Given the description of an element on the screen output the (x, y) to click on. 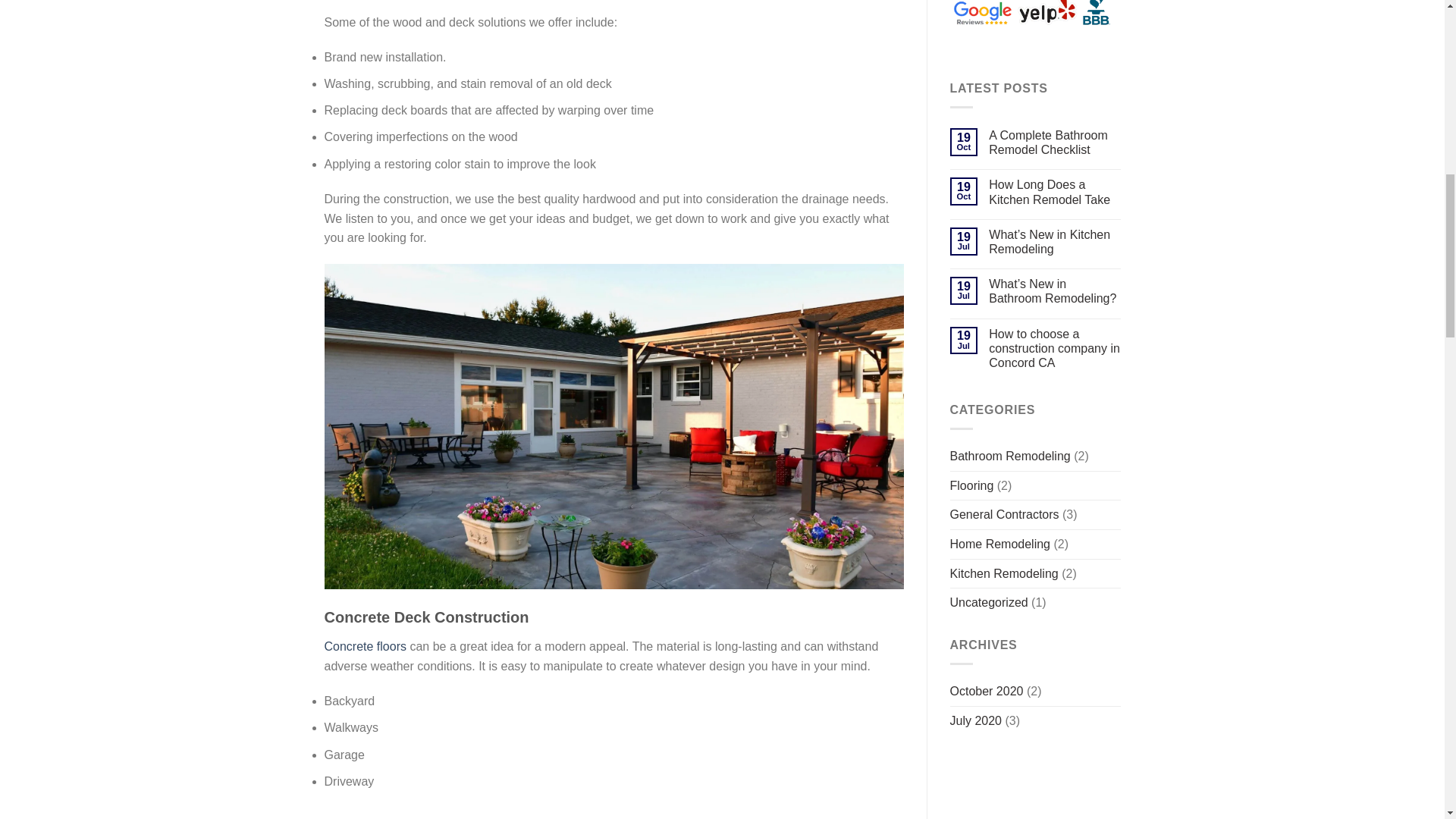
How to choose a construction company in Concord CA (1053, 347)
Concrete floors (365, 645)
How Long Does a Kitchen Remodel Take (1053, 191)
A Complete Bathroom Remodel Checklist (1053, 142)
A Complete Bathroom Remodel Checklist (1053, 142)
How Long Does a Kitchen Remodel Take (1053, 191)
